Given the description of an element on the screen output the (x, y) to click on. 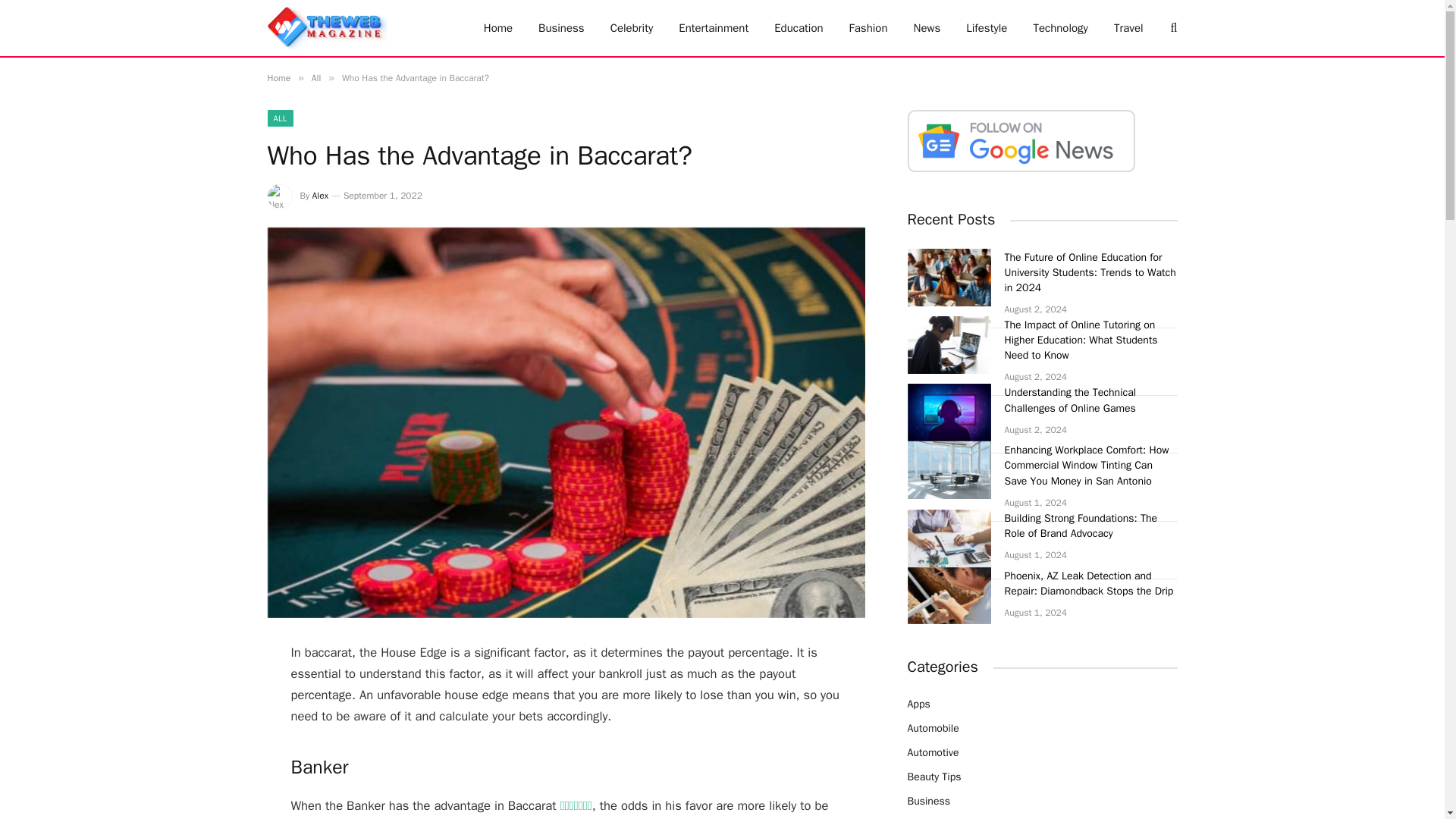
Business (560, 28)
Posts by Alex (321, 195)
News (927, 28)
Home (277, 78)
Lifestyle (986, 28)
Alex (321, 195)
ALL (279, 117)
Entertainment (713, 28)
Education (798, 28)
Travel (1128, 28)
Home (497, 28)
Technology (1060, 28)
The Web Magazine (325, 28)
